Given the description of an element on the screen output the (x, y) to click on. 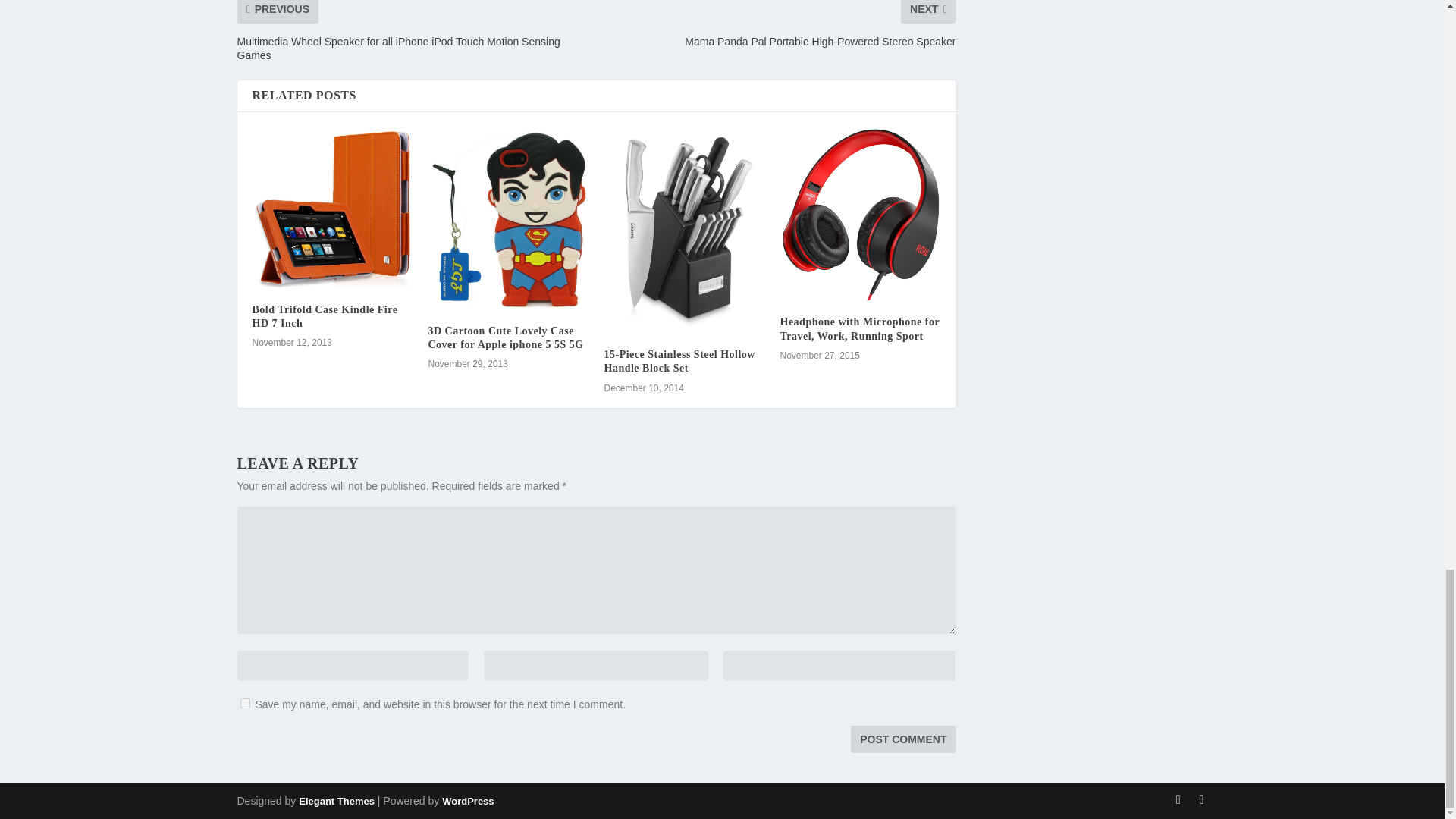
yes (244, 703)
Post Comment (902, 738)
